Given the description of an element on the screen output the (x, y) to click on. 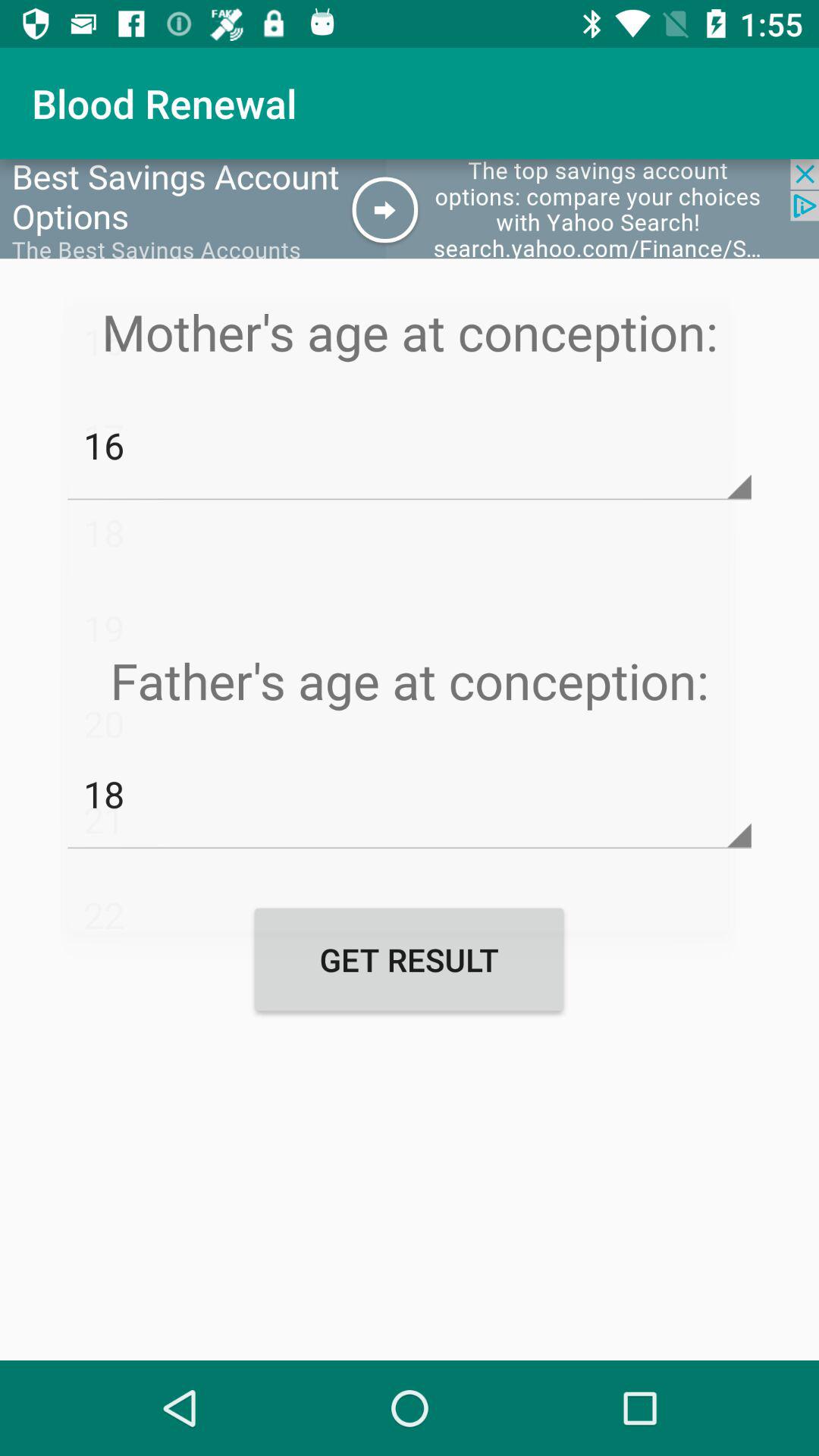
open linked page (409, 208)
